Given the description of an element on the screen output the (x, y) to click on. 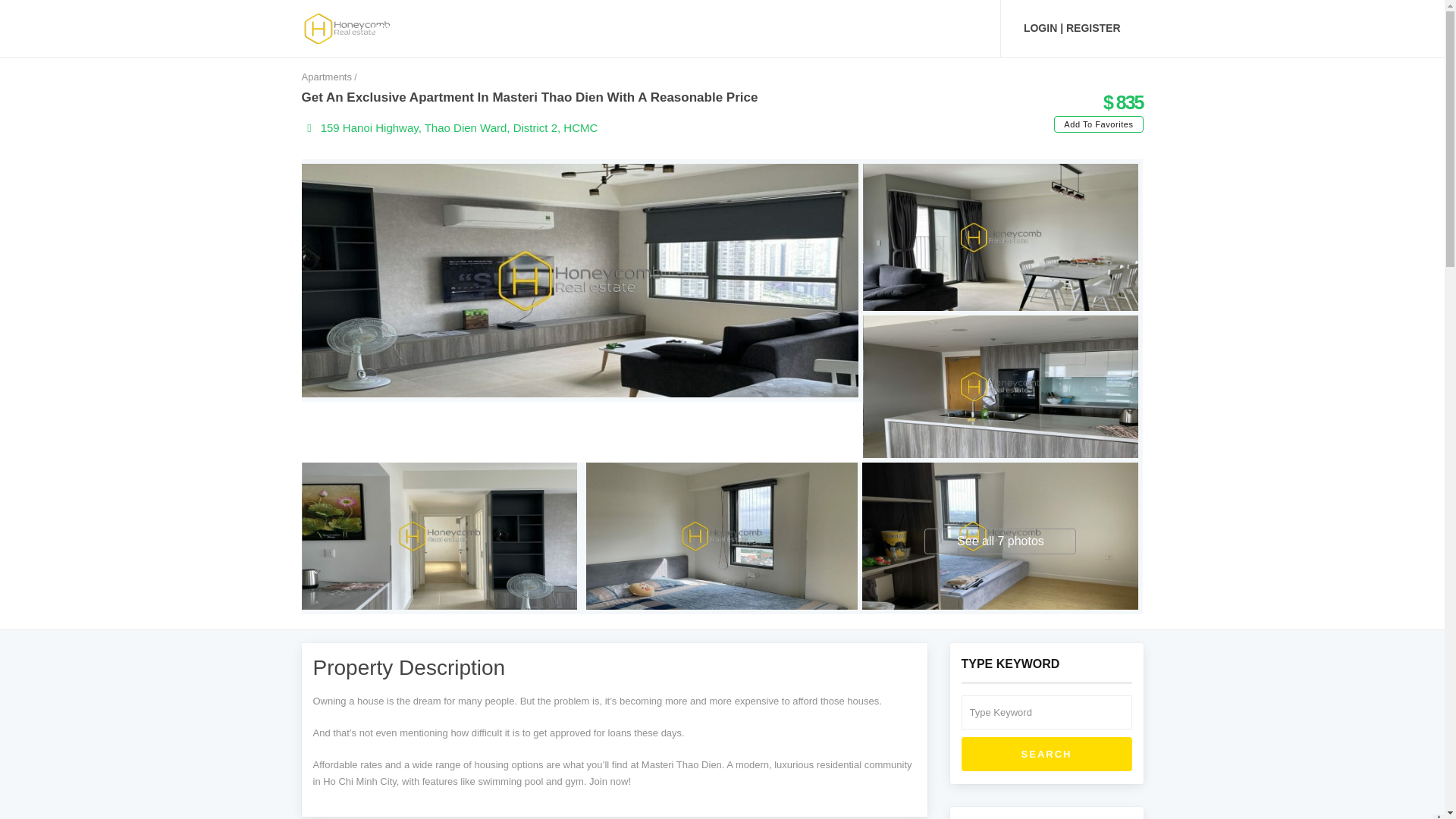
APARTMENT (463, 28)
SEARCH (1046, 754)
HOME (386, 28)
ABOUT US (759, 28)
CONTACT (946, 28)
Discover a place you will love in HCMC (347, 27)
SERVICED APARTMENT (643, 28)
TESTIMONIALS (853, 28)
VILLA (540, 28)
Apartments (326, 76)
